Given the description of an element on the screen output the (x, y) to click on. 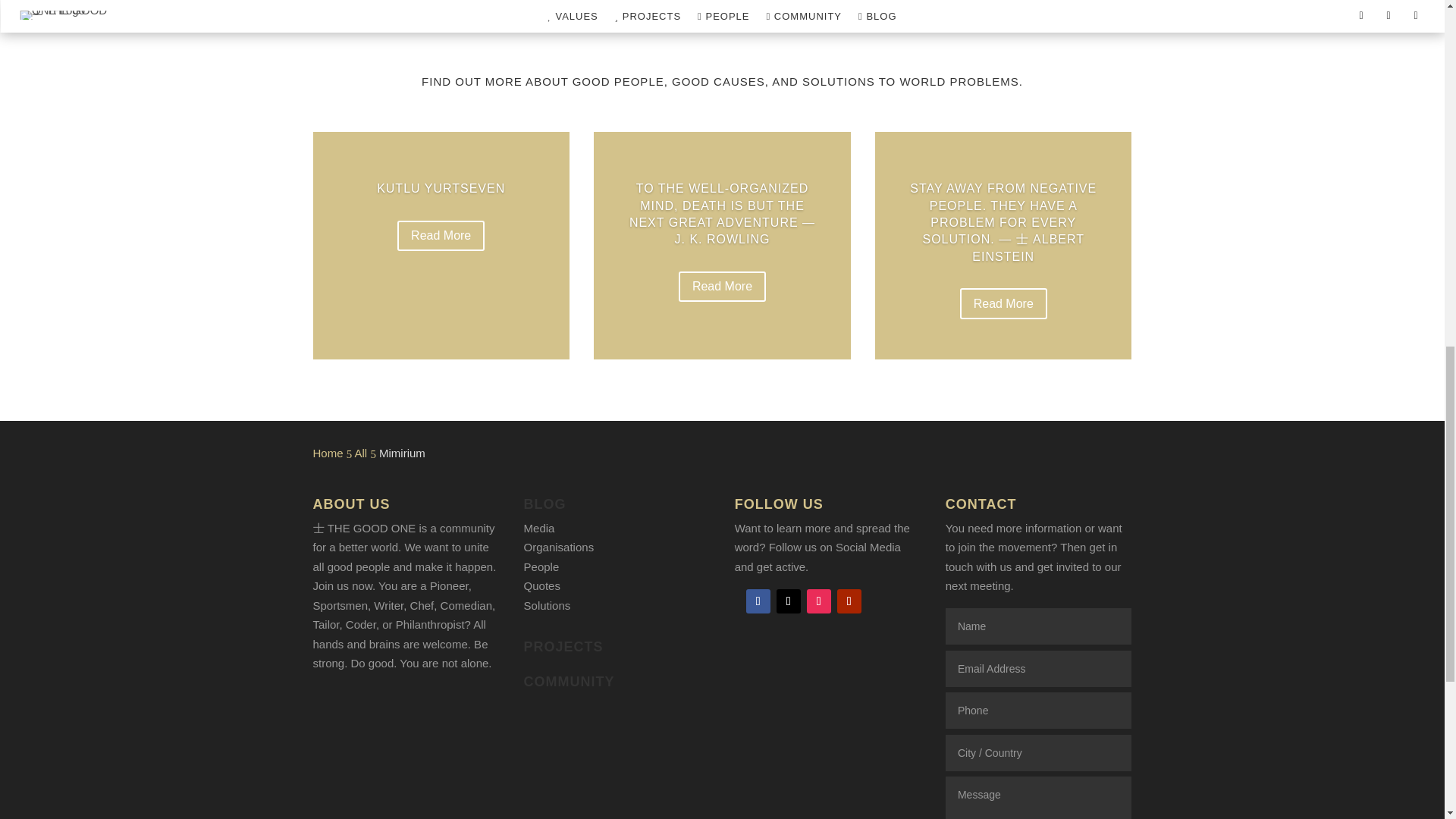
Follow on Youtube (849, 600)
Follow on Instagram (818, 600)
Only numbers allowed.Maximum length: 20 characters. (1037, 710)
Follow on X (788, 600)
Read More (440, 235)
Follow on Facebook (757, 600)
Only letters allowed.Maximum length: 50 characters. (1037, 752)
KUTLU YURTSEVEN (441, 187)
